Given the description of an element on the screen output the (x, y) to click on. 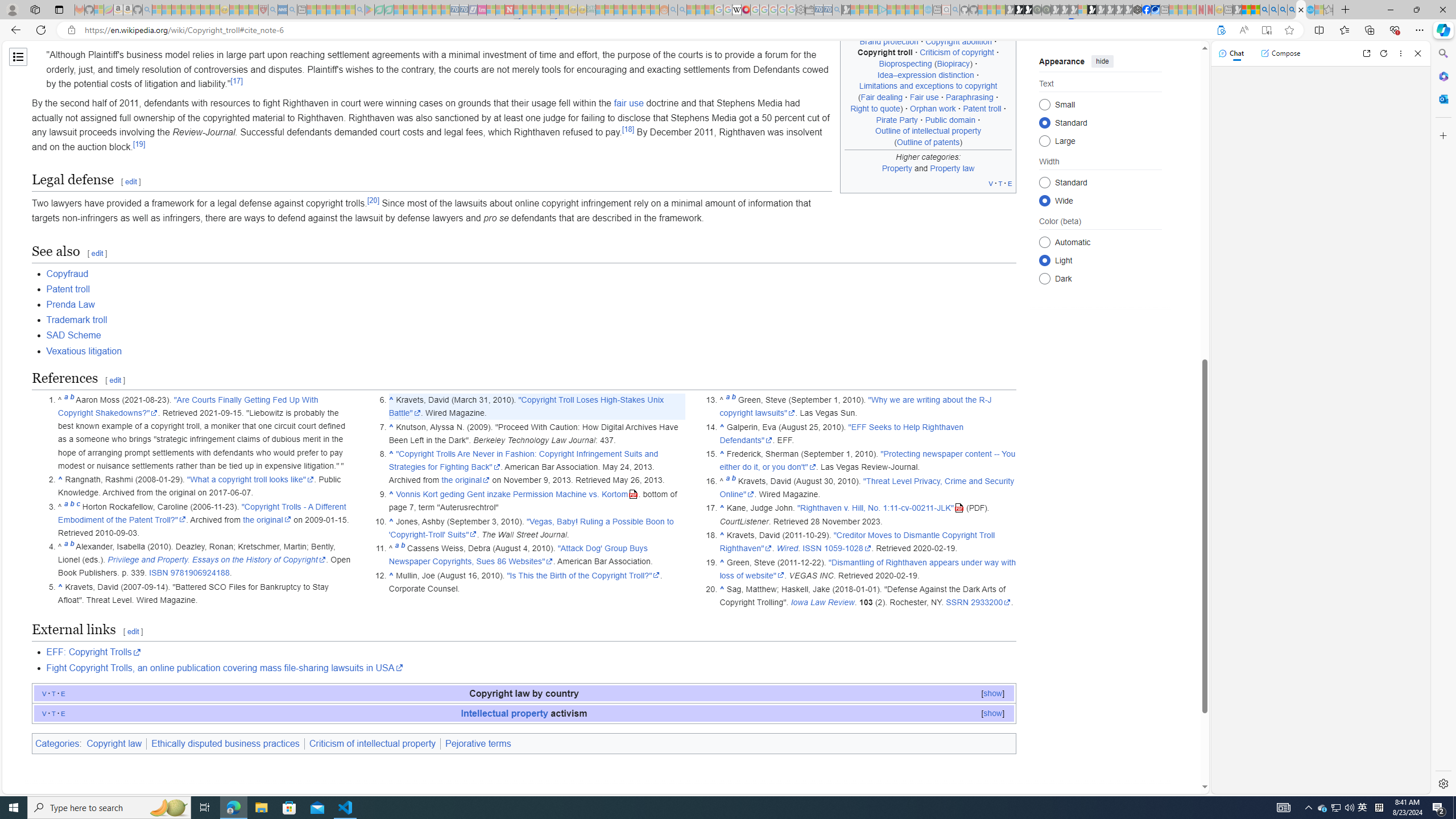
list of asthma inhalers uk - Search - Sleeping (272, 9)
Light (1044, 259)
Support Wikipedia? (1220, 29)
Criticism of copyright (957, 52)
google - Search - Sleeping (359, 9)
Small (1044, 104)
